Given the description of an element on the screen output the (x, y) to click on. 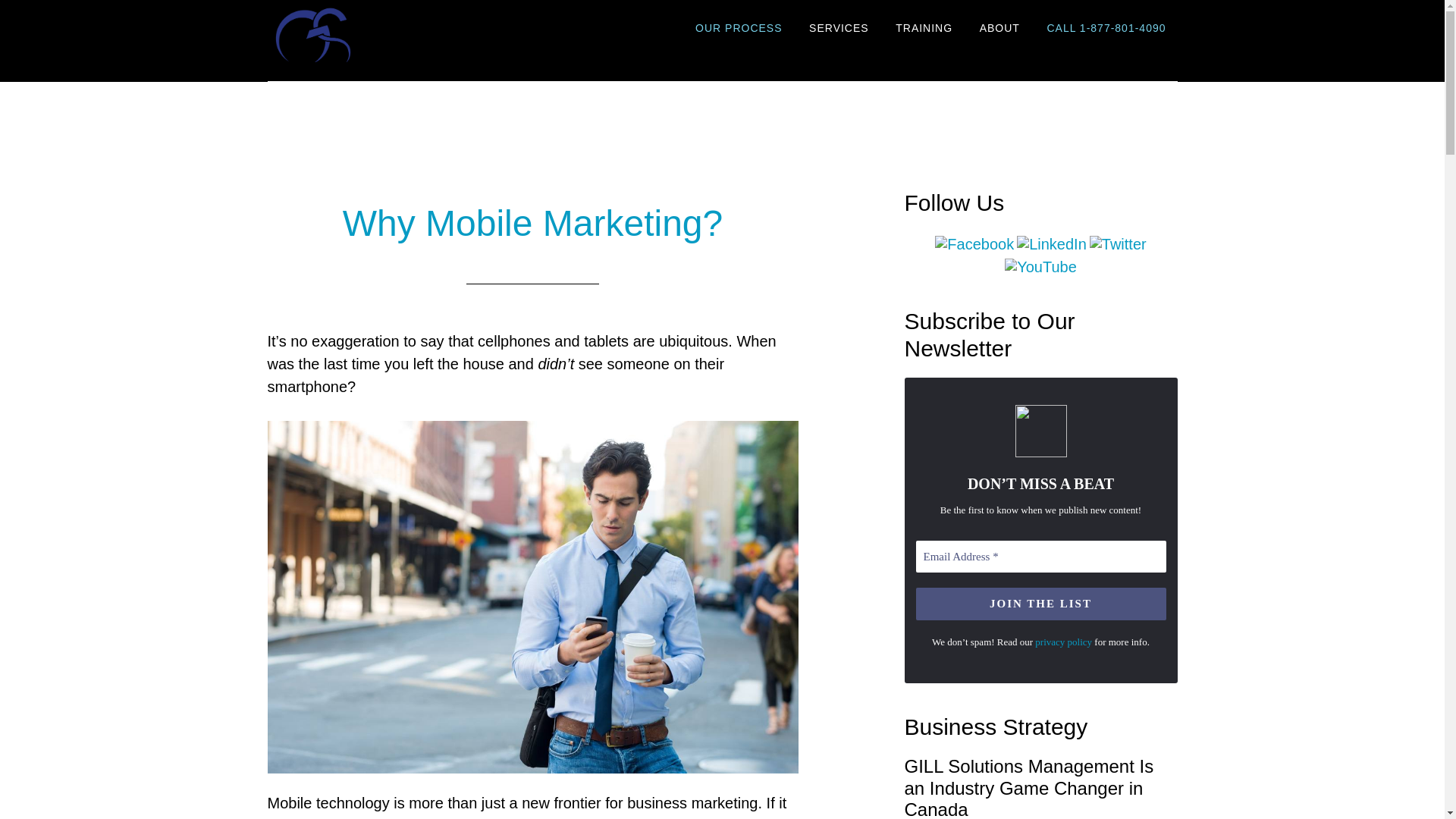
YouTube (1040, 267)
OUR PROCESS (738, 28)
LinkedIn (1051, 244)
CALL 1-877-801-4090 (1105, 28)
Email Address (1040, 556)
JOIN THE LIST (1040, 603)
LinkedIn (1050, 243)
TRAINING (923, 28)
ABOUT (999, 28)
Twitter (1117, 243)
Facebook (973, 243)
YouTube (1040, 266)
GILL SOLUTIONS (403, 33)
Twitter (1118, 244)
Facebook (973, 244)
